Given the description of an element on the screen output the (x, y) to click on. 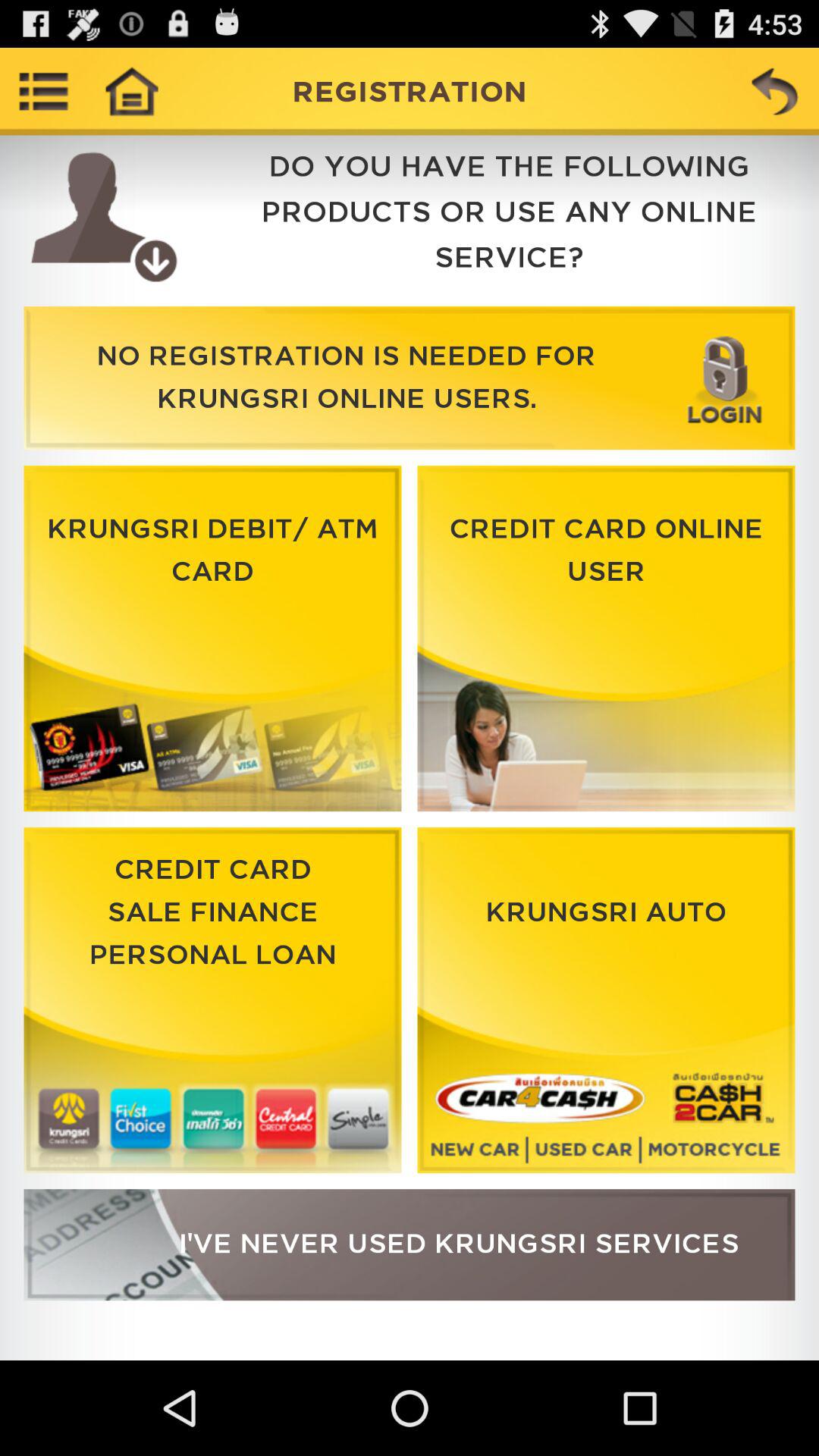
home (131, 91)
